Given the description of an element on the screen output the (x, y) to click on. 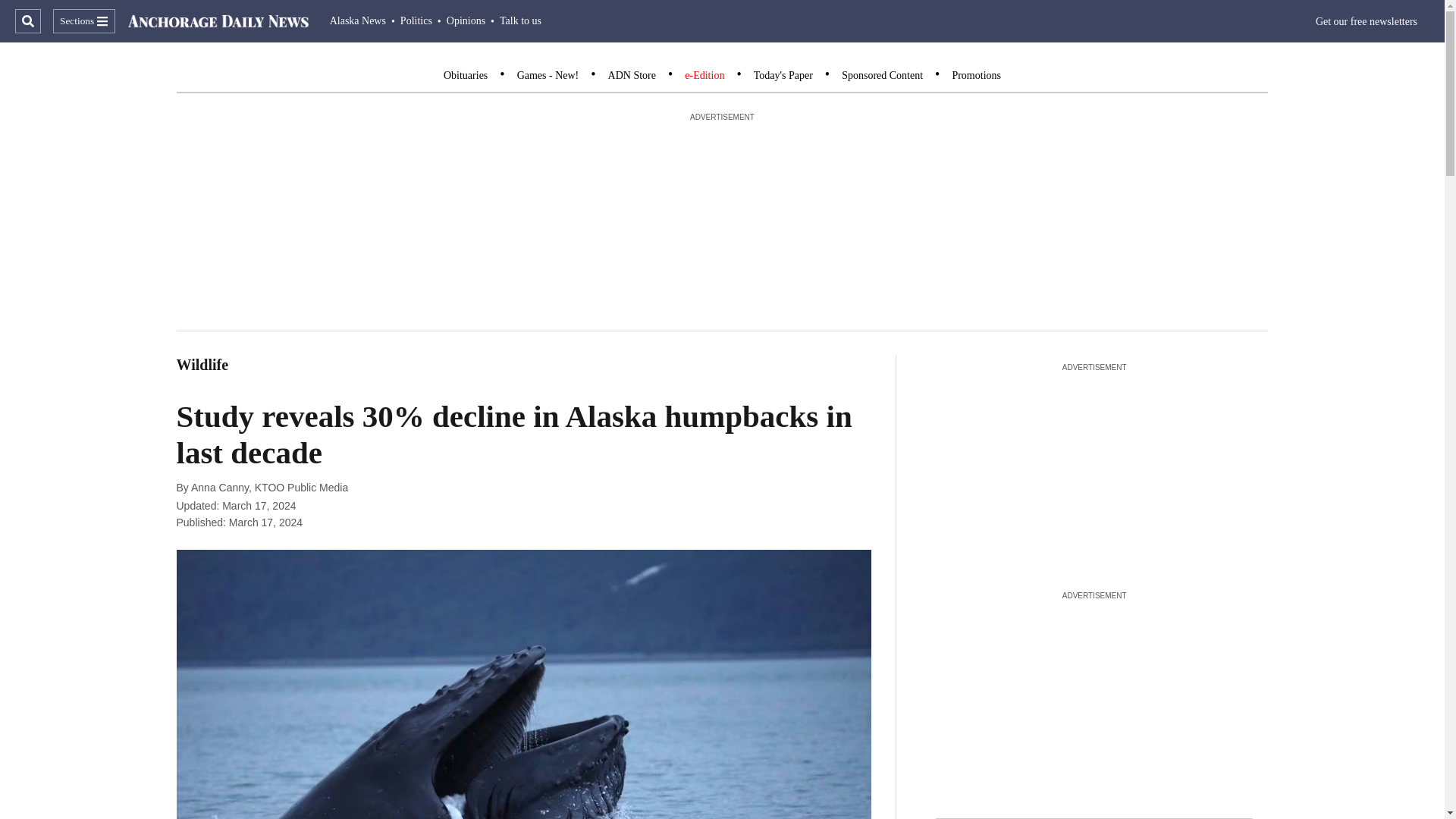
Politics (416, 20)
ADN Logo (218, 20)
Alaska News (357, 20)
Opinions (465, 20)
Get our free newsletters (1366, 21)
Sections (83, 21)
